Given the description of an element on the screen output the (x, y) to click on. 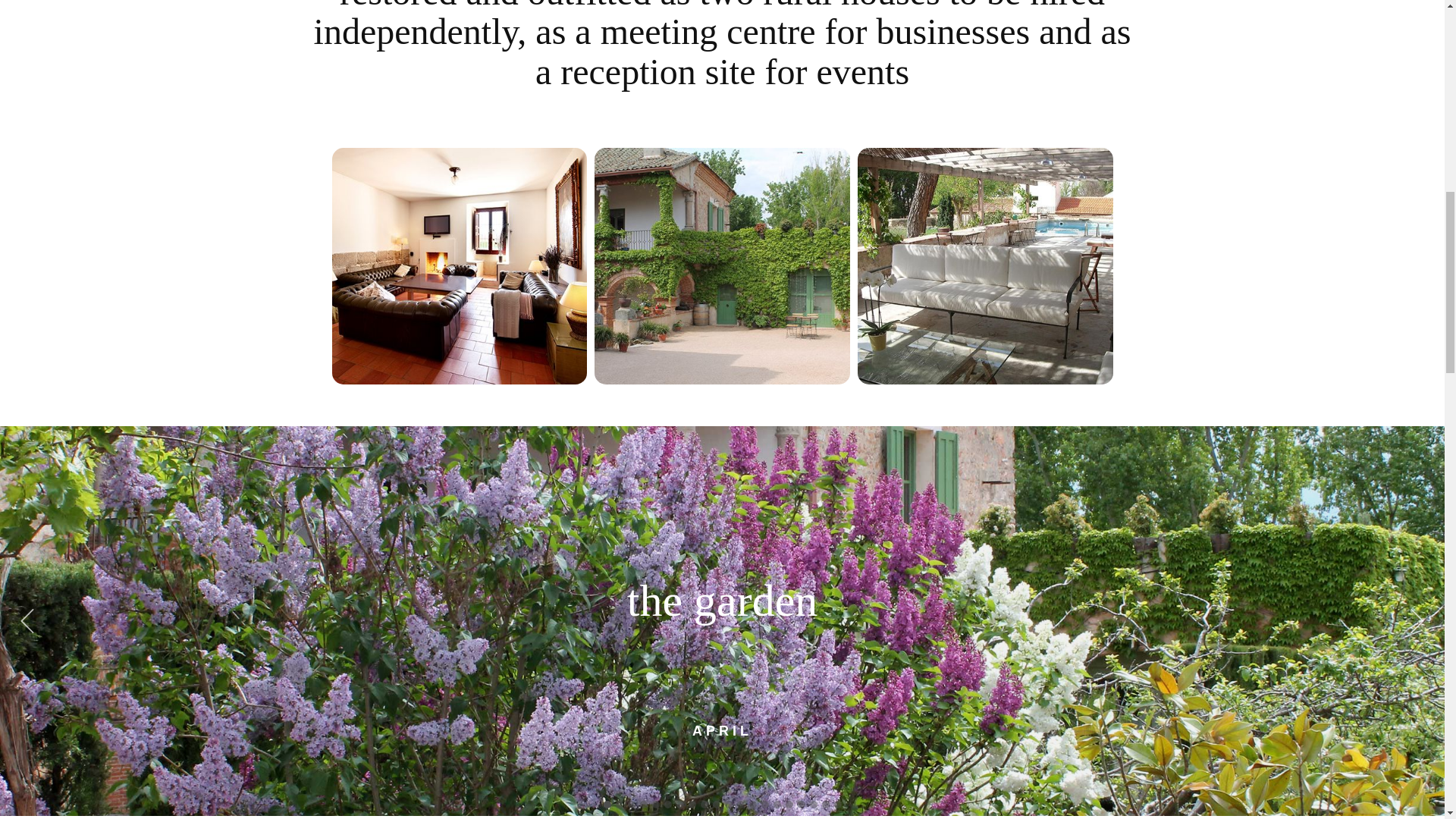
ALA DE PONIENTE (722, 266)
ALA DE NACIENTE (459, 266)
ESPACIOS LIBRES (985, 266)
